Given the description of an element on the screen output the (x, y) to click on. 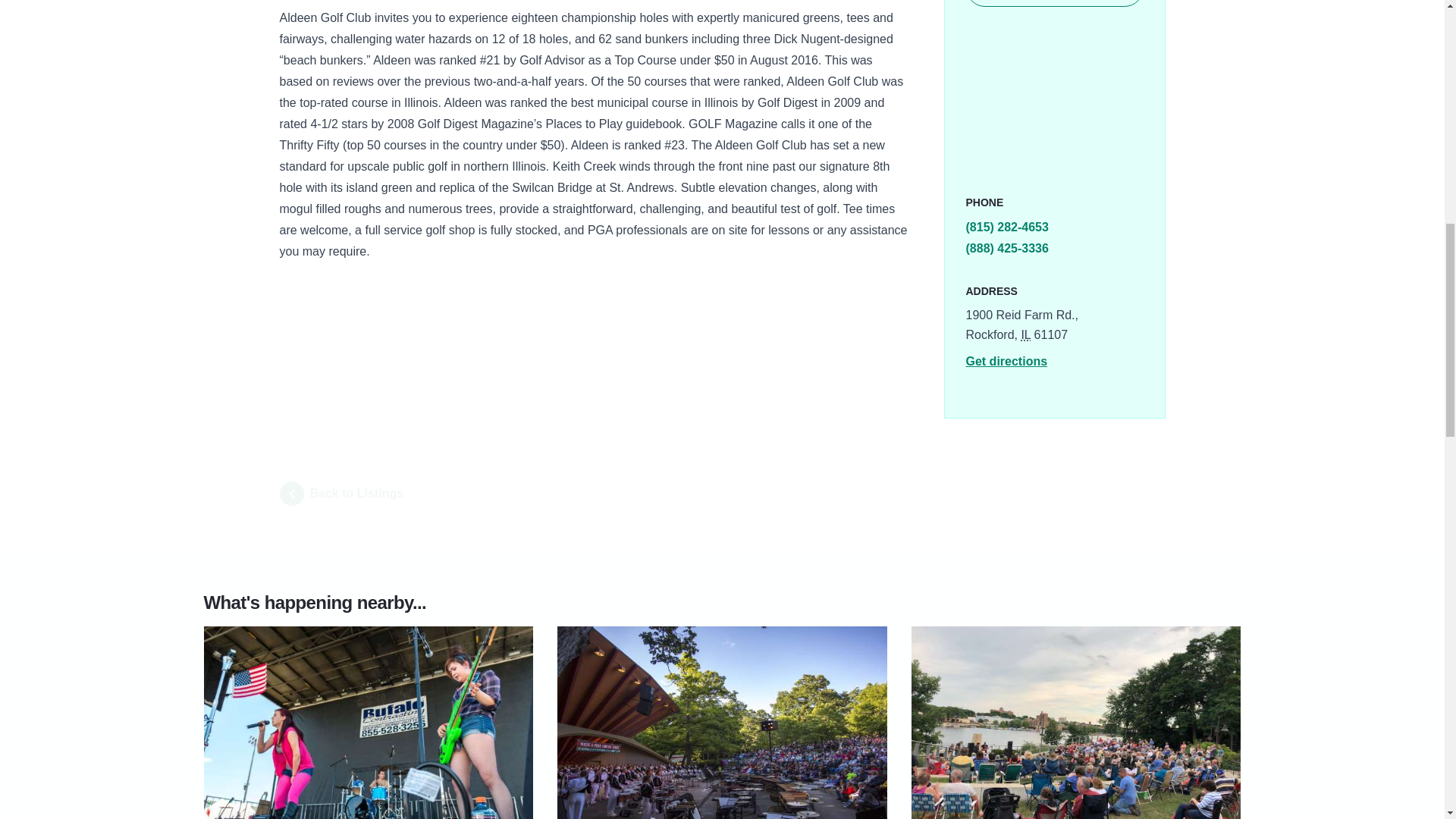
Visit Website (1054, 3)
Get directions (1007, 360)
